Given the description of an element on the screen output the (x, y) to click on. 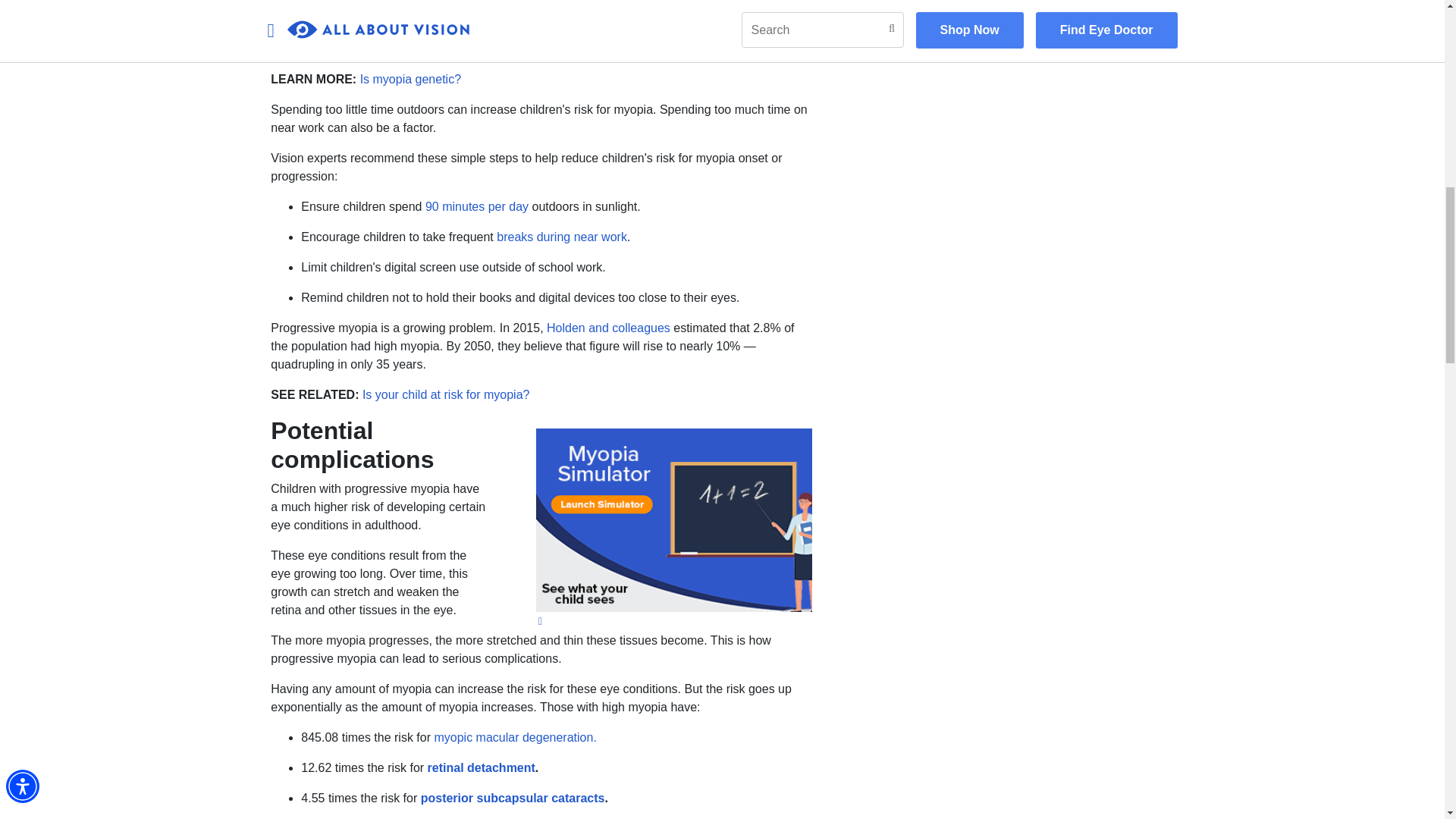
90 minutes per day (476, 205)
Is your child at risk for myopia? (445, 394)
myopic macular degeneration. (514, 737)
breaks during near work (561, 236)
posterior subcapsular cataracts (512, 797)
Is myopia genetic? (410, 78)
retinal detachment (481, 767)
Holden and colleagues (608, 327)
